Given the description of an element on the screen output the (x, y) to click on. 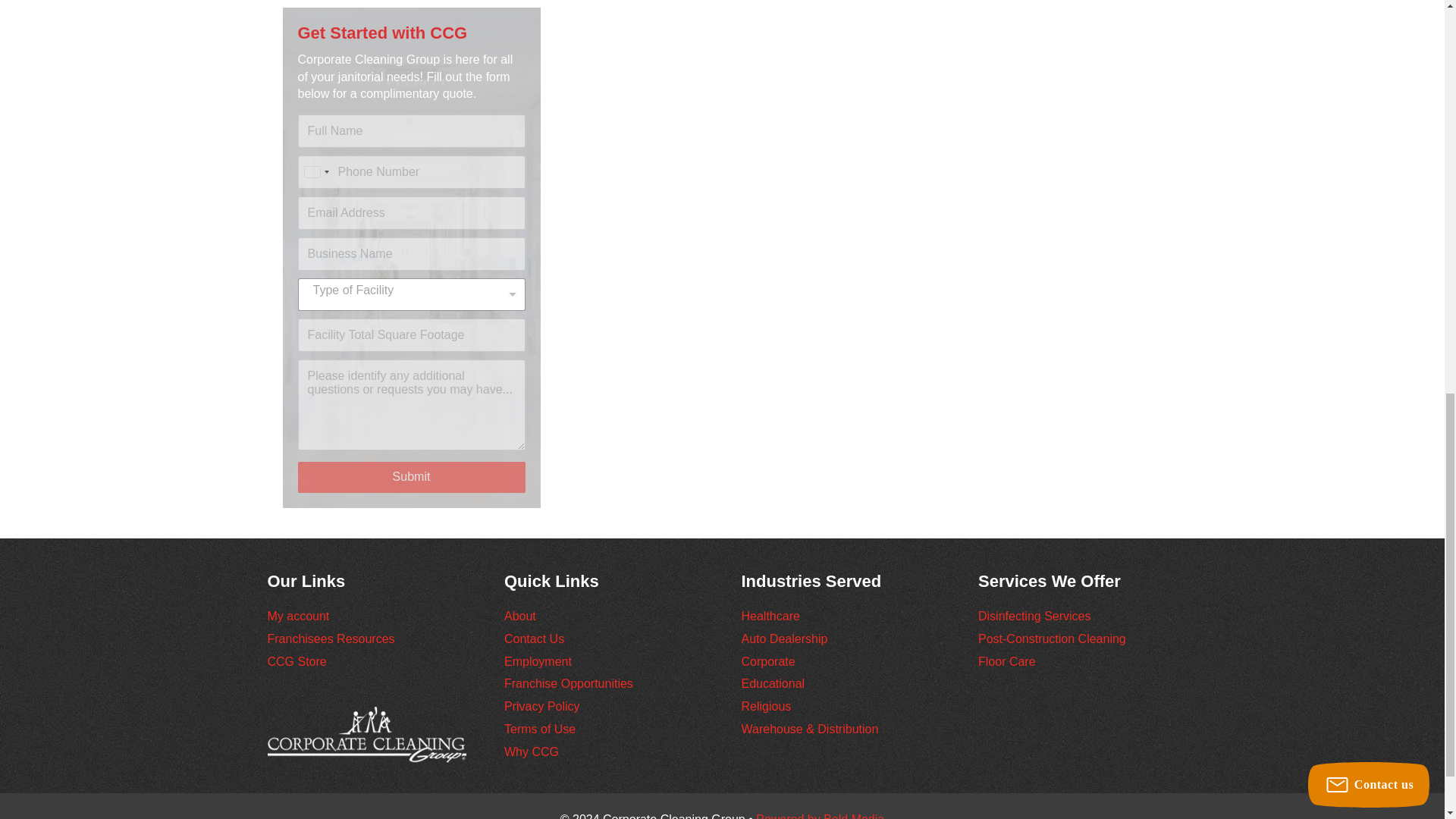
Michigan Website Design Company (819, 816)
